Given the description of an element on the screen output the (x, y) to click on. 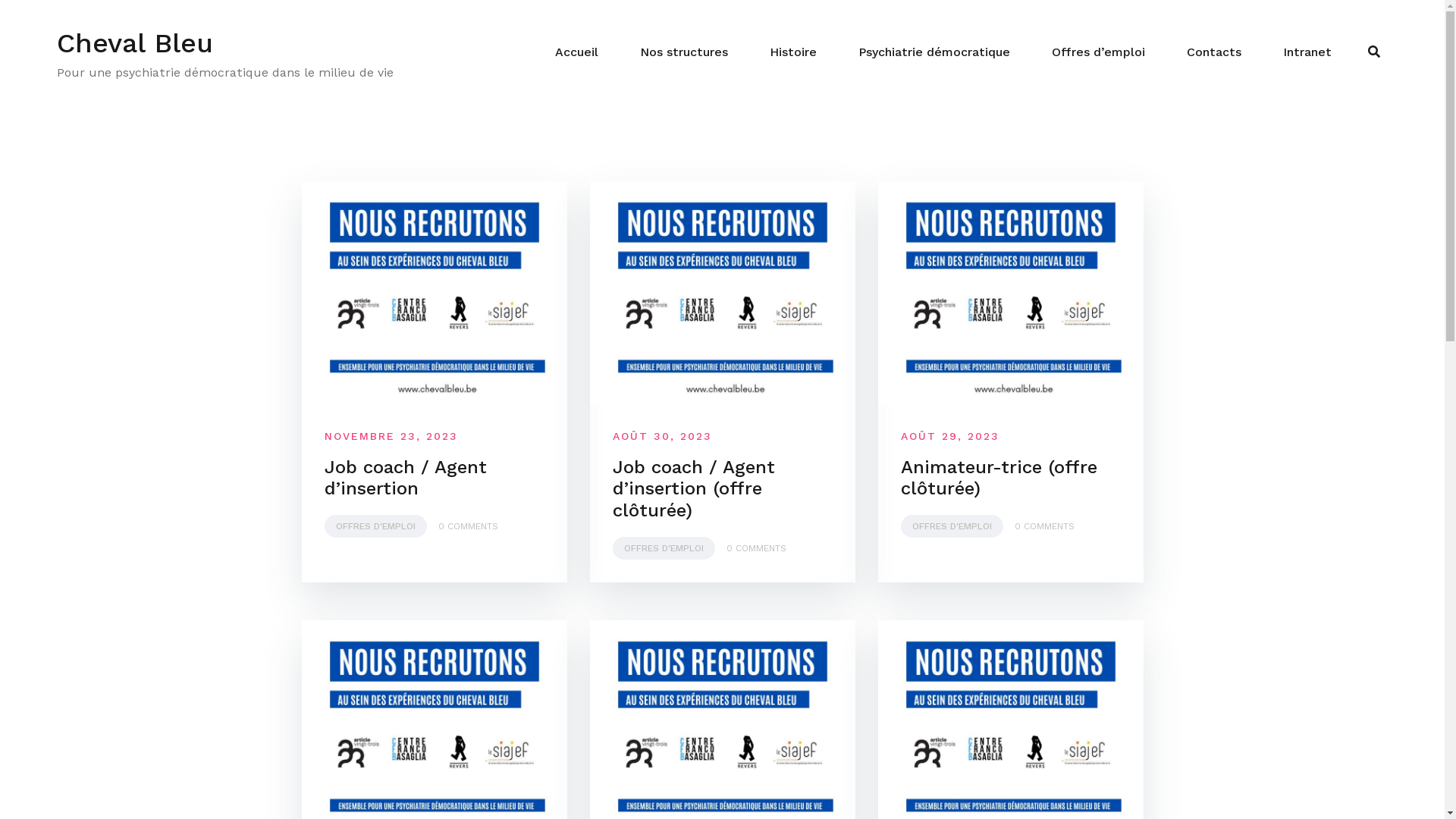
Accueil Element type: text (576, 52)
OFFRES D'EMPLOI Element type: text (375, 525)
NOVEMBRE 23, 2023 Element type: text (391, 435)
OFFRES D'EMPLOI Element type: text (663, 547)
Contacts Element type: text (1213, 52)
Intranet Element type: text (1307, 52)
OFFRES D'EMPLOI Element type: text (951, 525)
Nos structures Element type: text (684, 52)
Cheval Bleu Element type: text (134, 43)
Histoire Element type: text (792, 52)
